Given the description of an element on the screen output the (x, y) to click on. 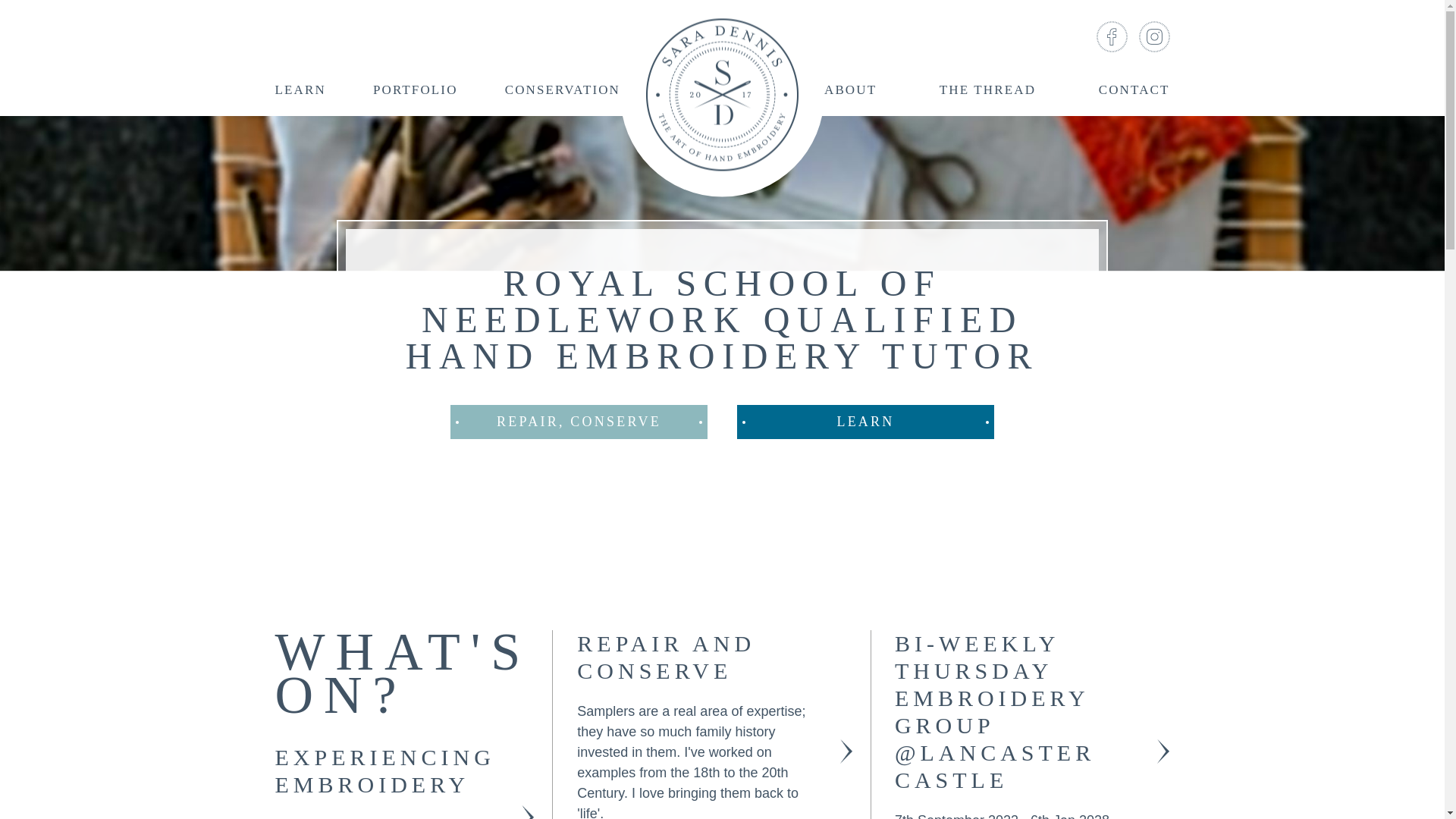
REPAIR, CONSERVE (578, 421)
LEARN (865, 421)
CONTACT (1134, 95)
CONSERVATION (562, 95)
PORTFOLIO (415, 95)
LEARN (299, 95)
ABOUT (850, 95)
THE THREAD (987, 95)
